Given the description of an element on the screen output the (x, y) to click on. 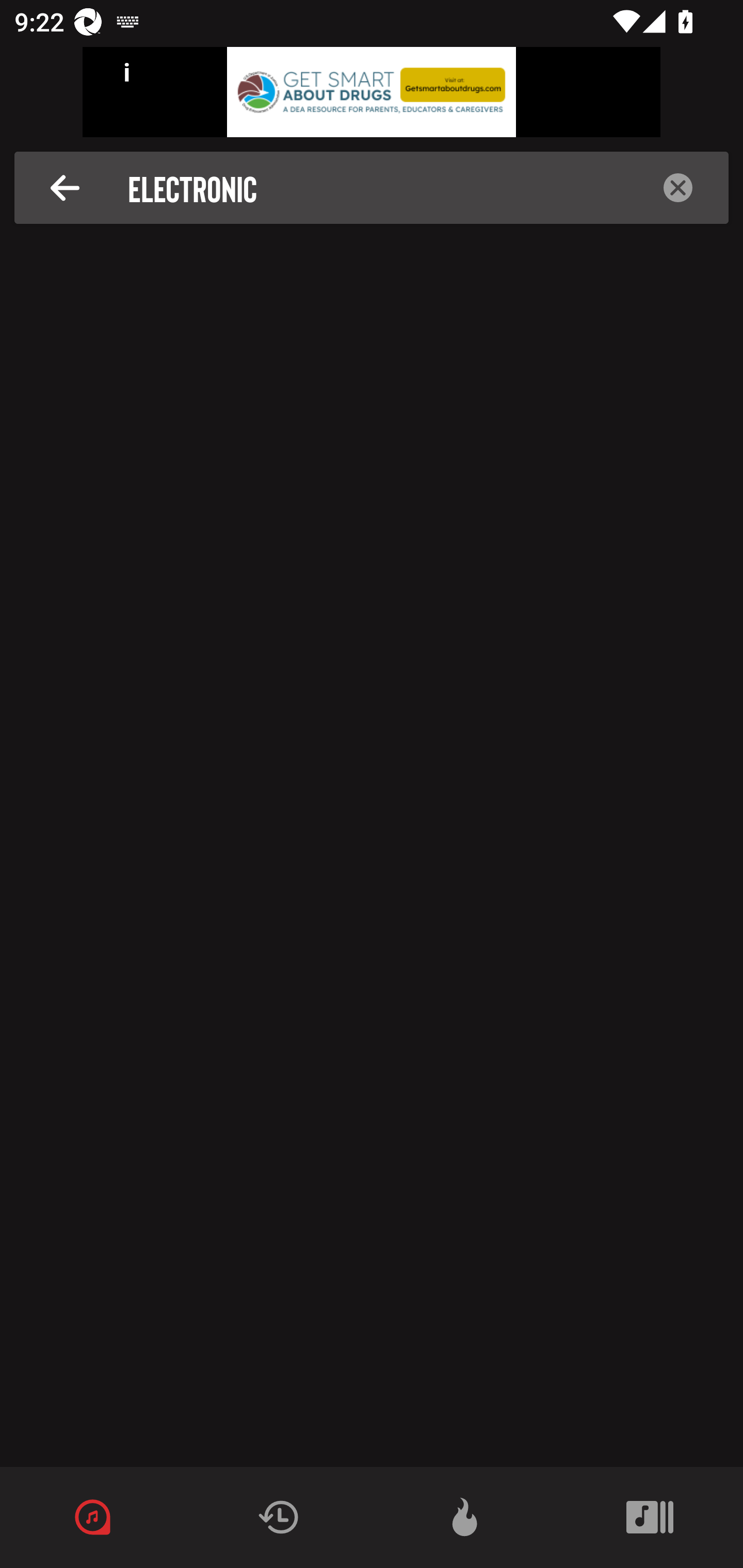
Electronic (377, 188)
Description (64, 188)
Description (677, 188)
